Given the description of an element on the screen output the (x, y) to click on. 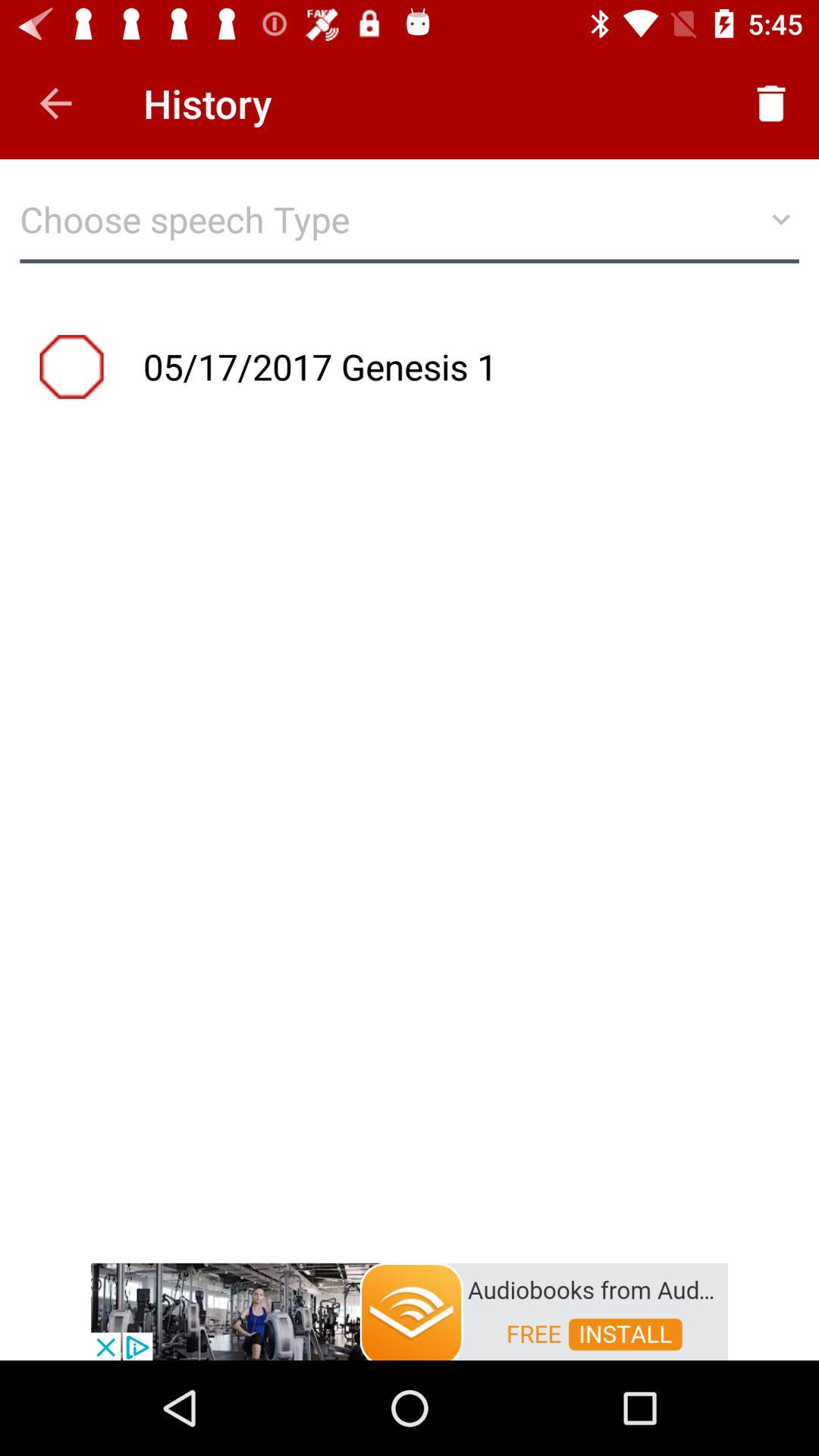
open advertisement (409, 1310)
